Given the description of an element on the screen output the (x, y) to click on. 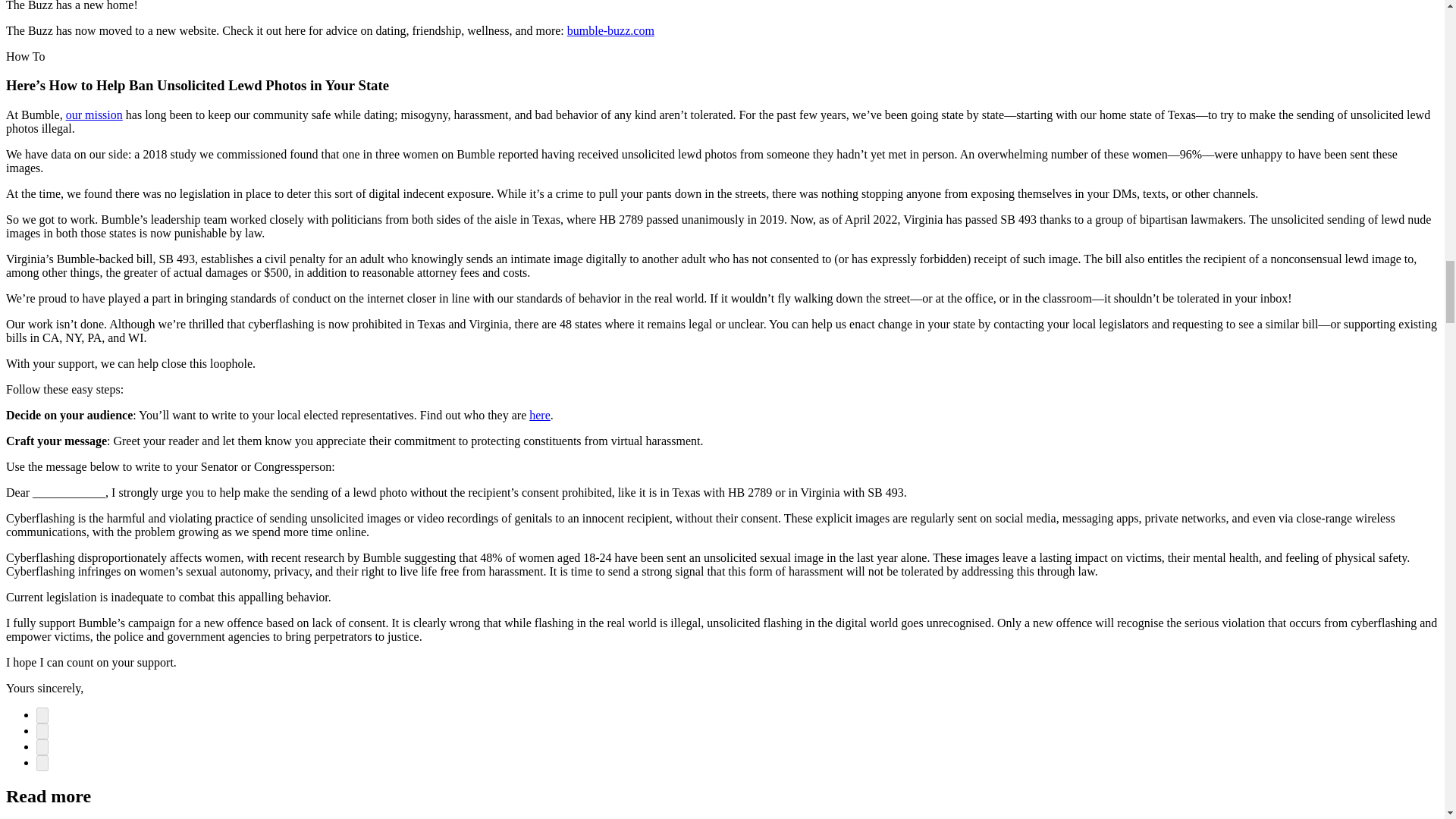
bumble-buzz.com (610, 30)
here (539, 414)
our mission (93, 114)
